Given the description of an element on the screen output the (x, y) to click on. 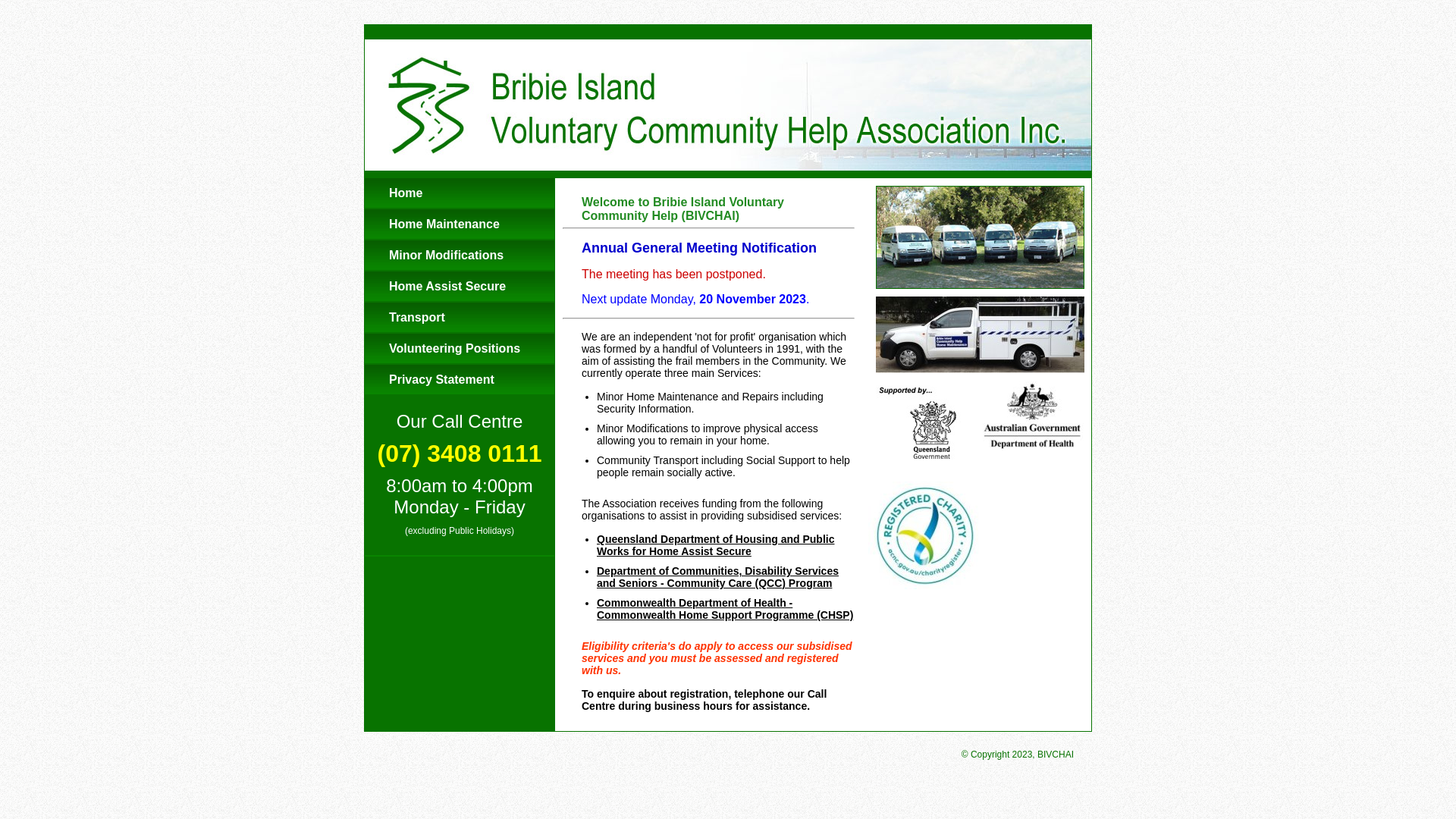
Home Element type: text (459, 193)
Privacy Statement Element type: text (459, 379)
Home Assist Secure Element type: text (459, 286)
Home Maintenance Element type: text (459, 224)
Minor Modifications Element type: text (459, 255)
Volunteering Positions Element type: text (459, 348)
Transport Element type: text (459, 317)
